Given the description of an element on the screen output the (x, y) to click on. 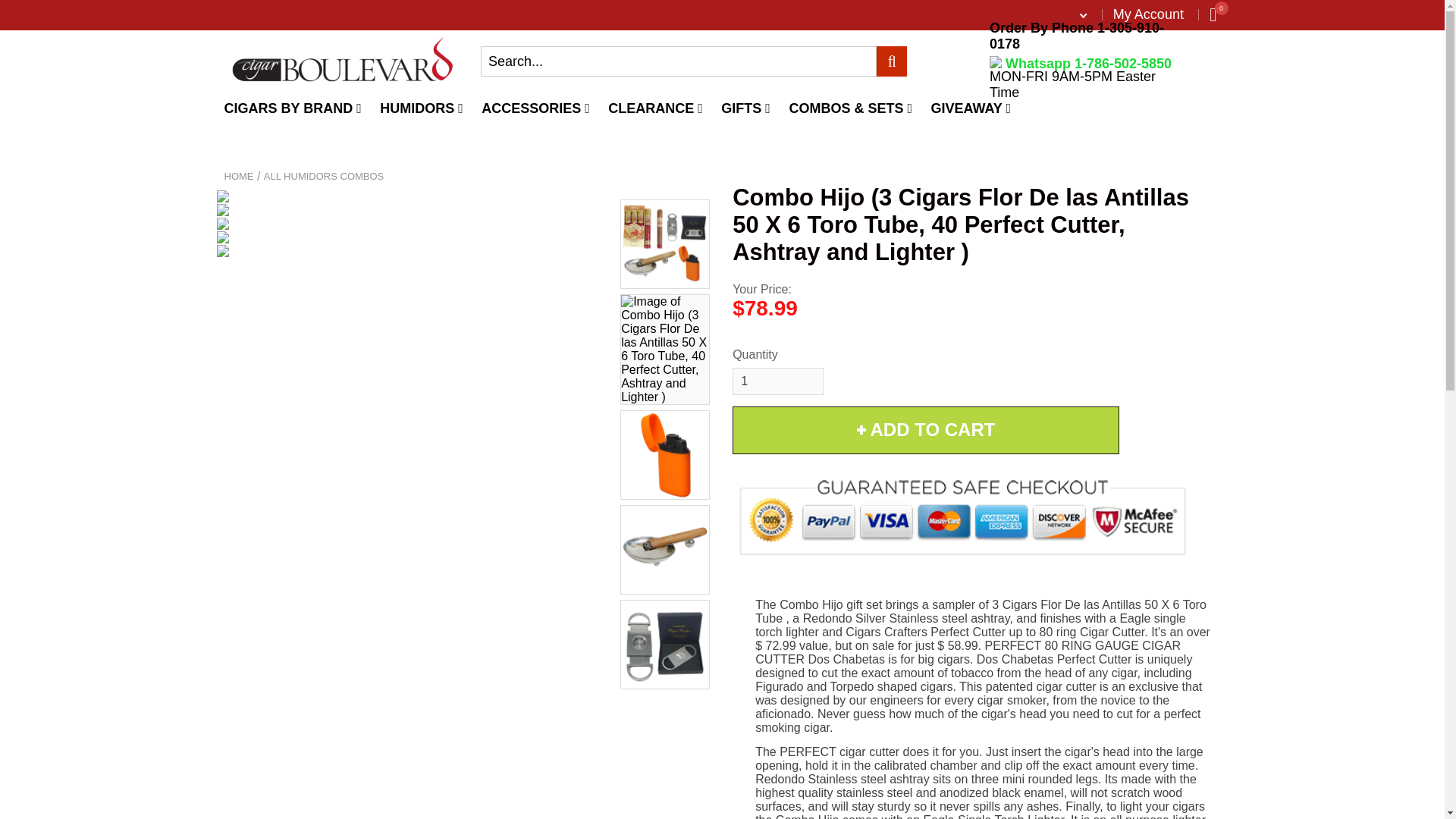
Whatsapp 1-786-502-5850 (1081, 63)
CIGARS BY BRAND (292, 108)
Back to the home page (238, 176)
1 (778, 380)
My Account (1148, 14)
0 (1212, 14)
